Given the description of an element on the screen output the (x, y) to click on. 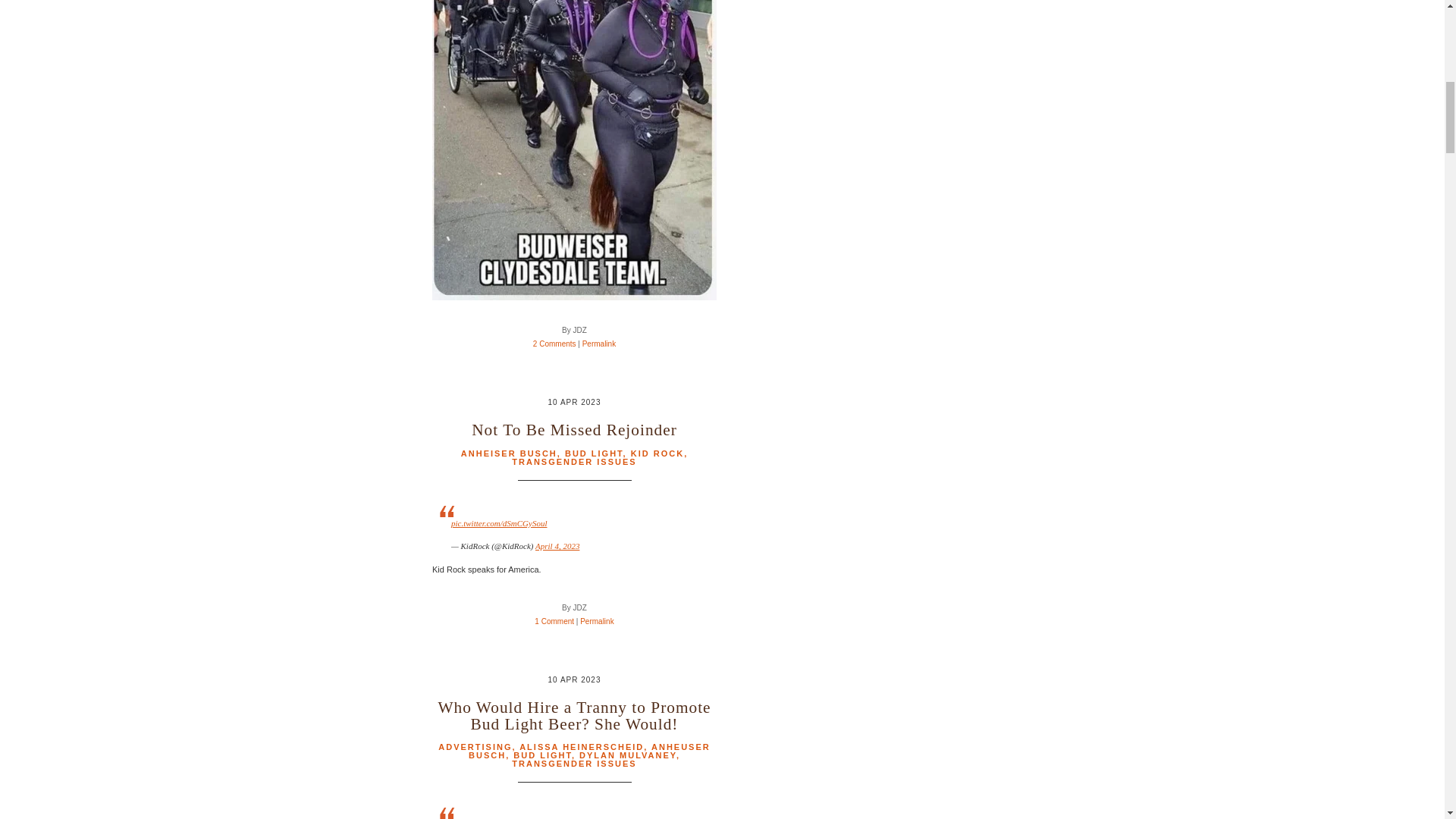
1 Comment (553, 621)
April 4, 2023 (557, 545)
ANHEISER BUSCH (509, 452)
KID ROCK (657, 452)
ALISSA HEINERSCHEID (581, 746)
BUD LIGHT (542, 755)
TRANSGENDER ISSUES (574, 763)
Permalink (598, 343)
Not To Be Missed Rejoinder (574, 429)
ADVERTISING (475, 746)
BUD LIGHT (593, 452)
Permalink (595, 621)
DYLAN MULVANEY (628, 755)
2 Comments (554, 343)
